Given the description of an element on the screen output the (x, y) to click on. 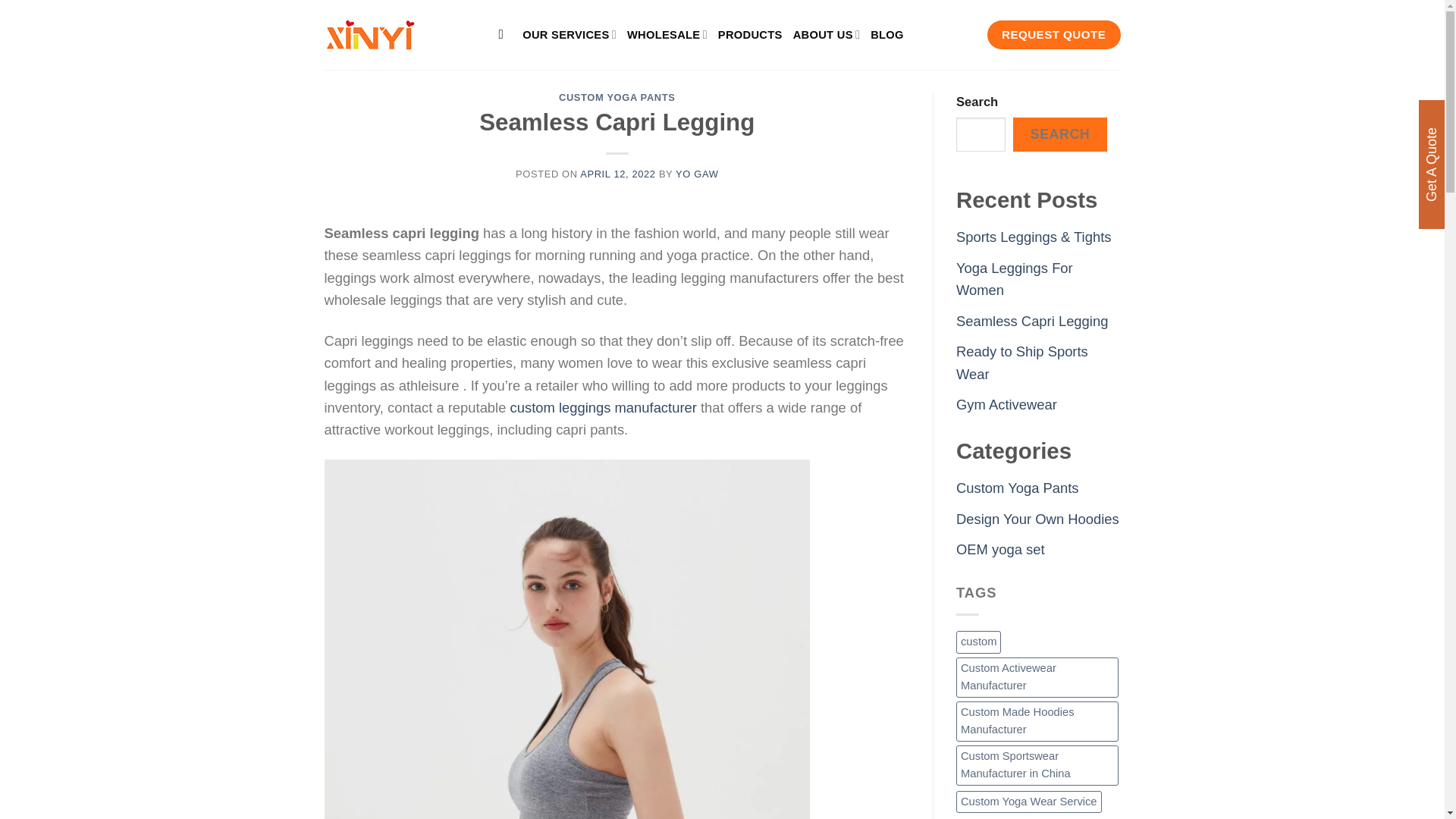
PRODUCTS (750, 34)
APRIL 12, 2022 (617, 173)
OUR SERVICES (568, 34)
SEARCH (1059, 134)
CUSTOM YOGA PANTS (617, 97)
REQUEST QUOTE (1054, 34)
BLOG (887, 34)
OemYogaWear - yoga clothing manufacturer (400, 34)
ABOUT US (826, 34)
custom leggings manufacturer (604, 407)
WHOLESALE (667, 34)
YO GAW (696, 173)
